Given the description of an element on the screen output the (x, y) to click on. 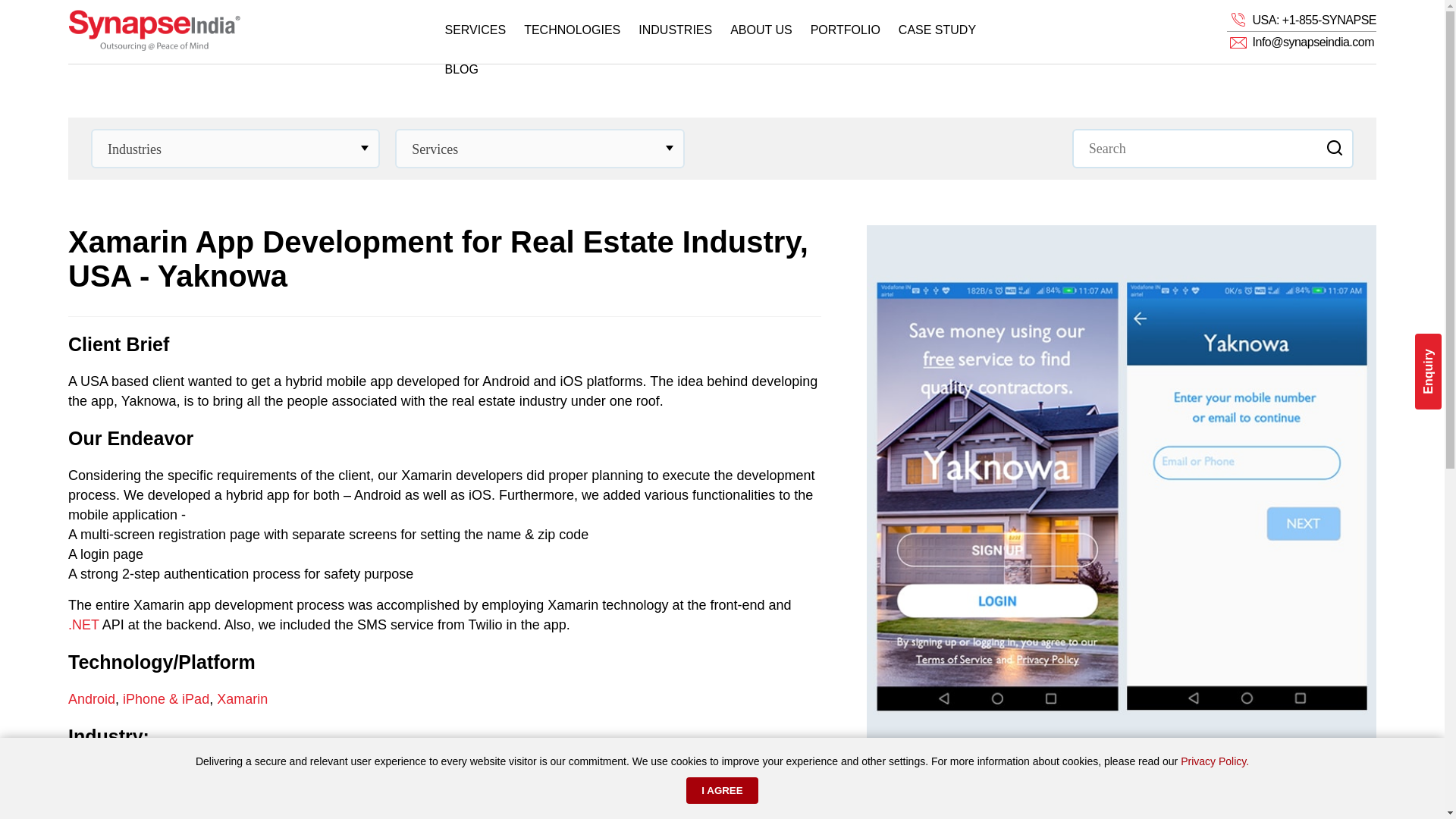
SERVICES (475, 30)
TECHNOLOGIES (571, 30)
